Given the description of an element on the screen output the (x, y) to click on. 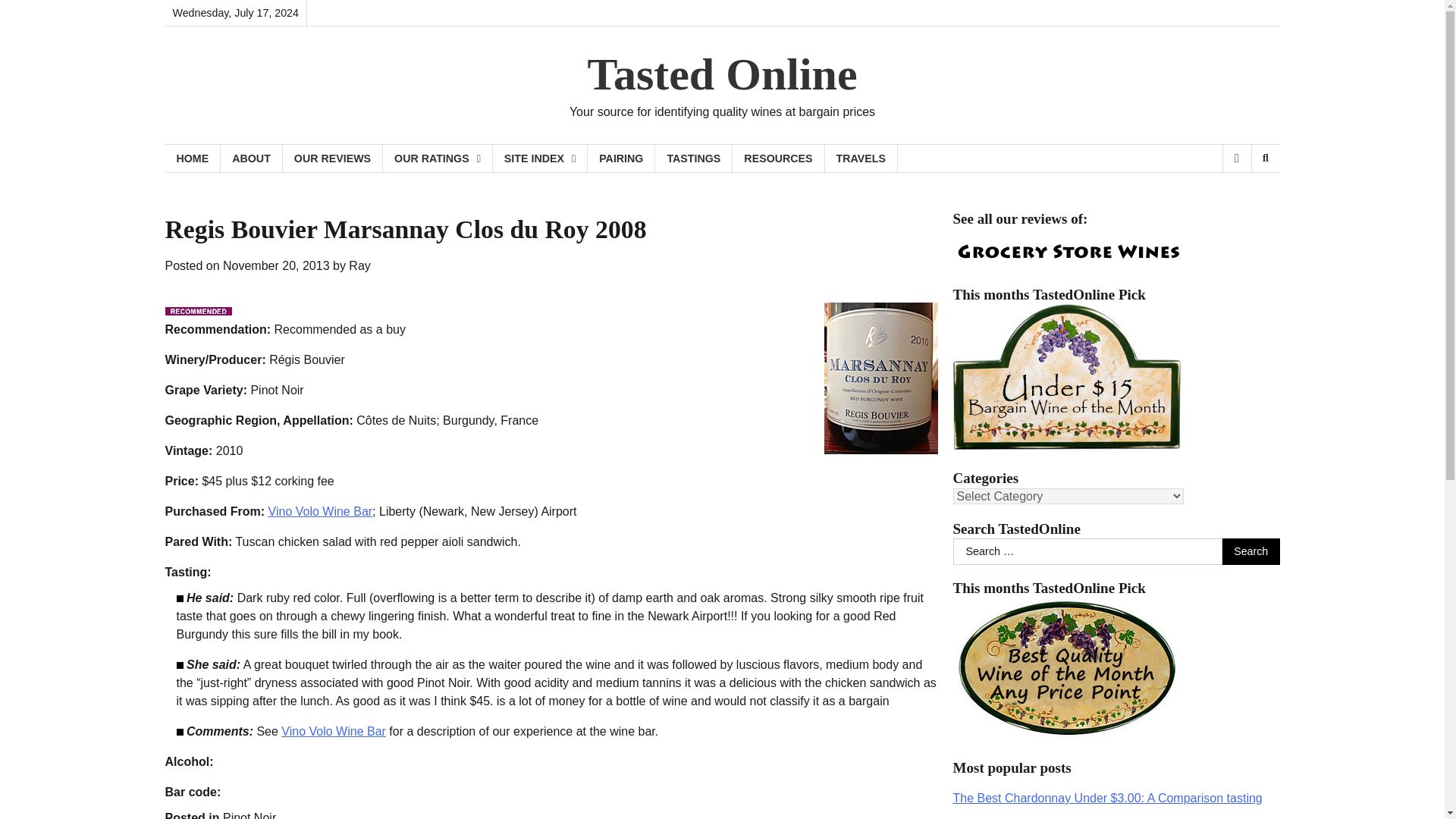
Vino Volo Wine Bar (333, 730)
Travels of a wine blogger (861, 158)
HOME (193, 158)
TASTINGS (693, 158)
Vino Volo Wine Bar (319, 511)
Search (1264, 158)
Pinot Noir (249, 815)
View Random Post (1236, 158)
OUR REVIEWS (332, 158)
Search (1251, 551)
PAIRING (621, 158)
OUR RATINGS (437, 158)
November 20, 2013 (276, 265)
RESOURCES (778, 158)
Search (1251, 551)
